Given the description of an element on the screen output the (x, y) to click on. 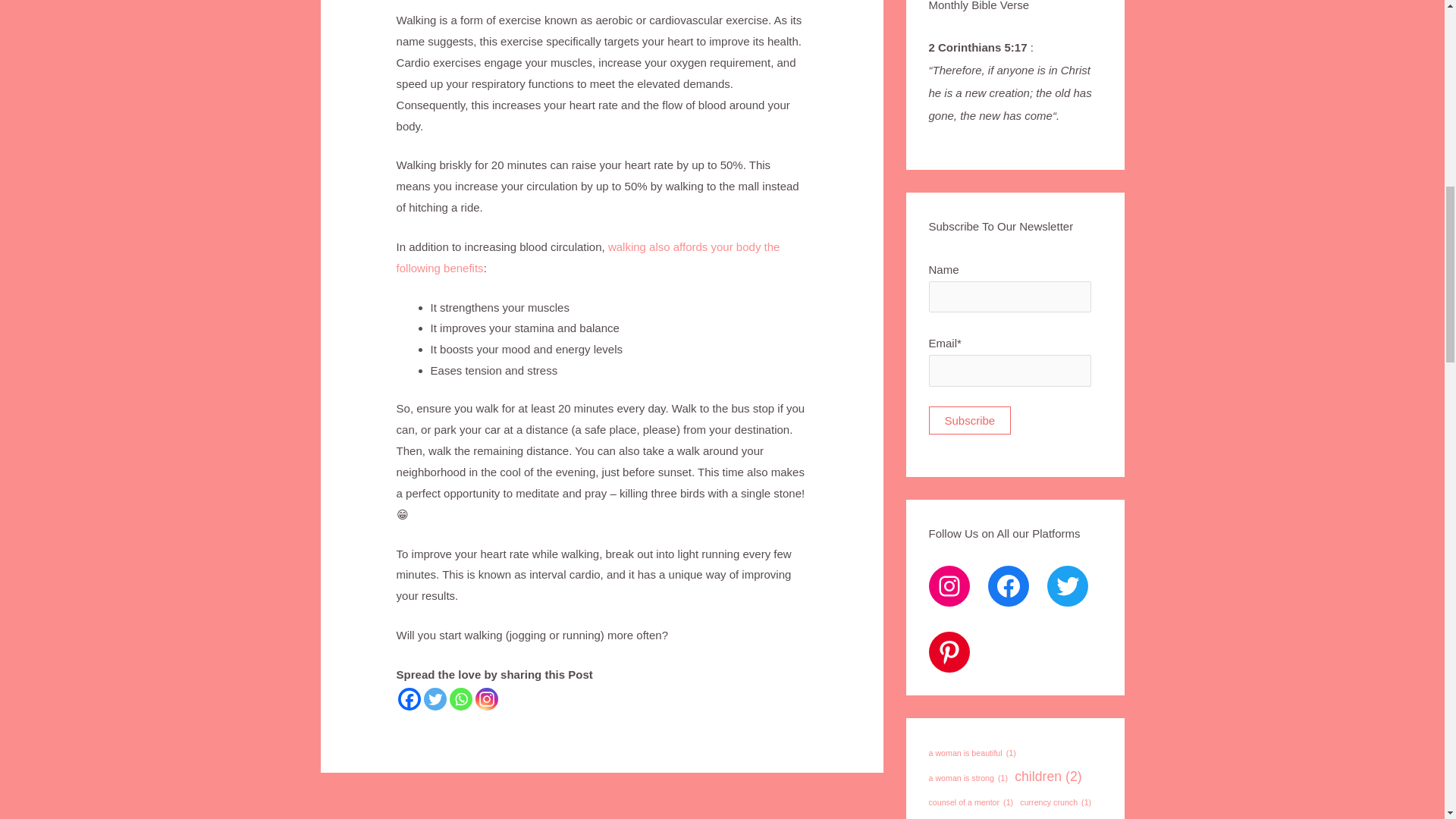
Twitter (434, 698)
Subscribe (969, 420)
Whatsapp (460, 698)
walking also affords your body the following benefits (588, 257)
Keep Your Hands Clean (363, 807)
Facebook (408, 698)
Instagram (486, 698)
